Given the description of an element on the screen output the (x, y) to click on. 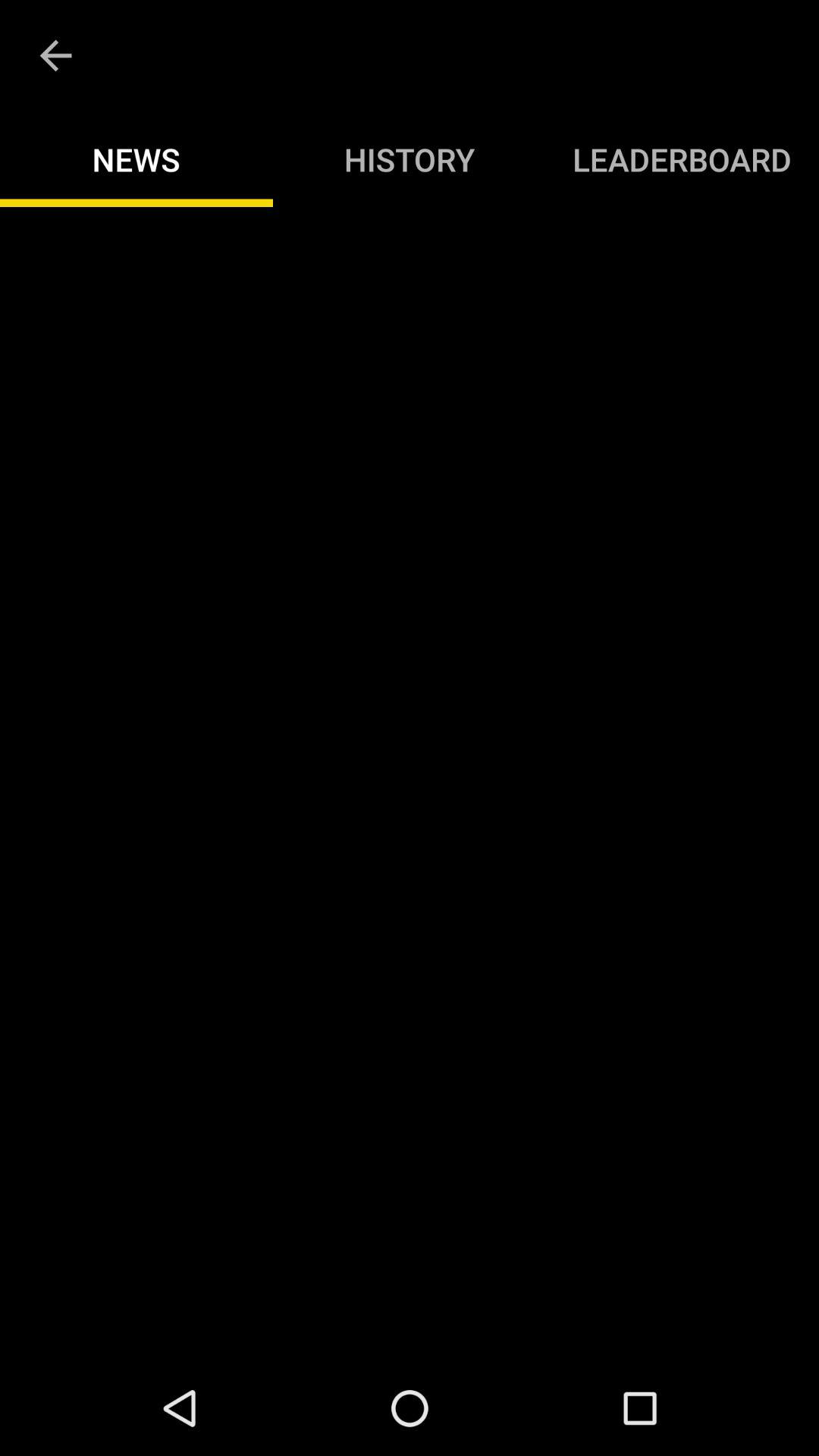
news field (409, 783)
